Given the description of an element on the screen output the (x, y) to click on. 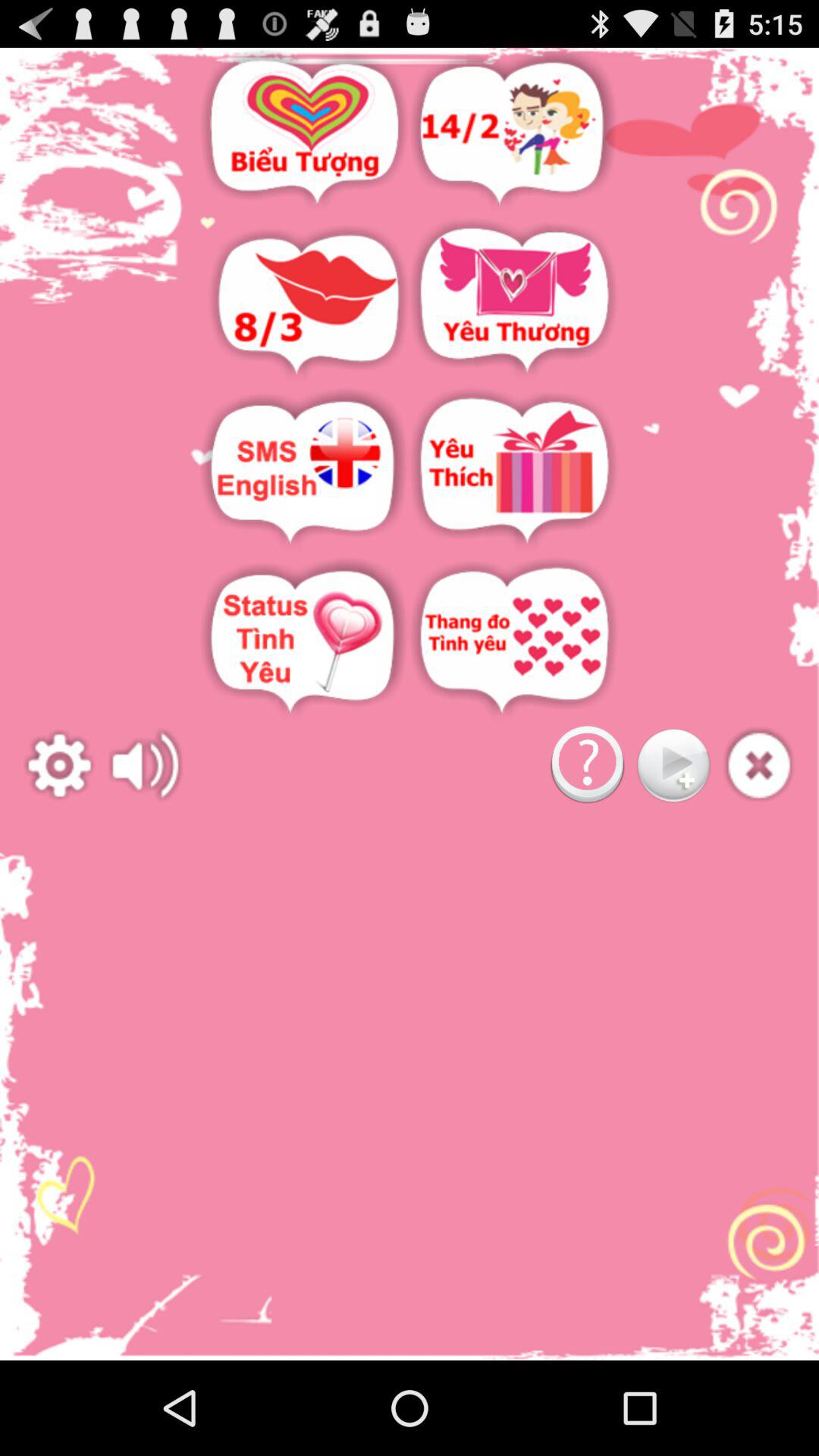
adjust the volume (145, 765)
